Given the description of an element on the screen output the (x, y) to click on. 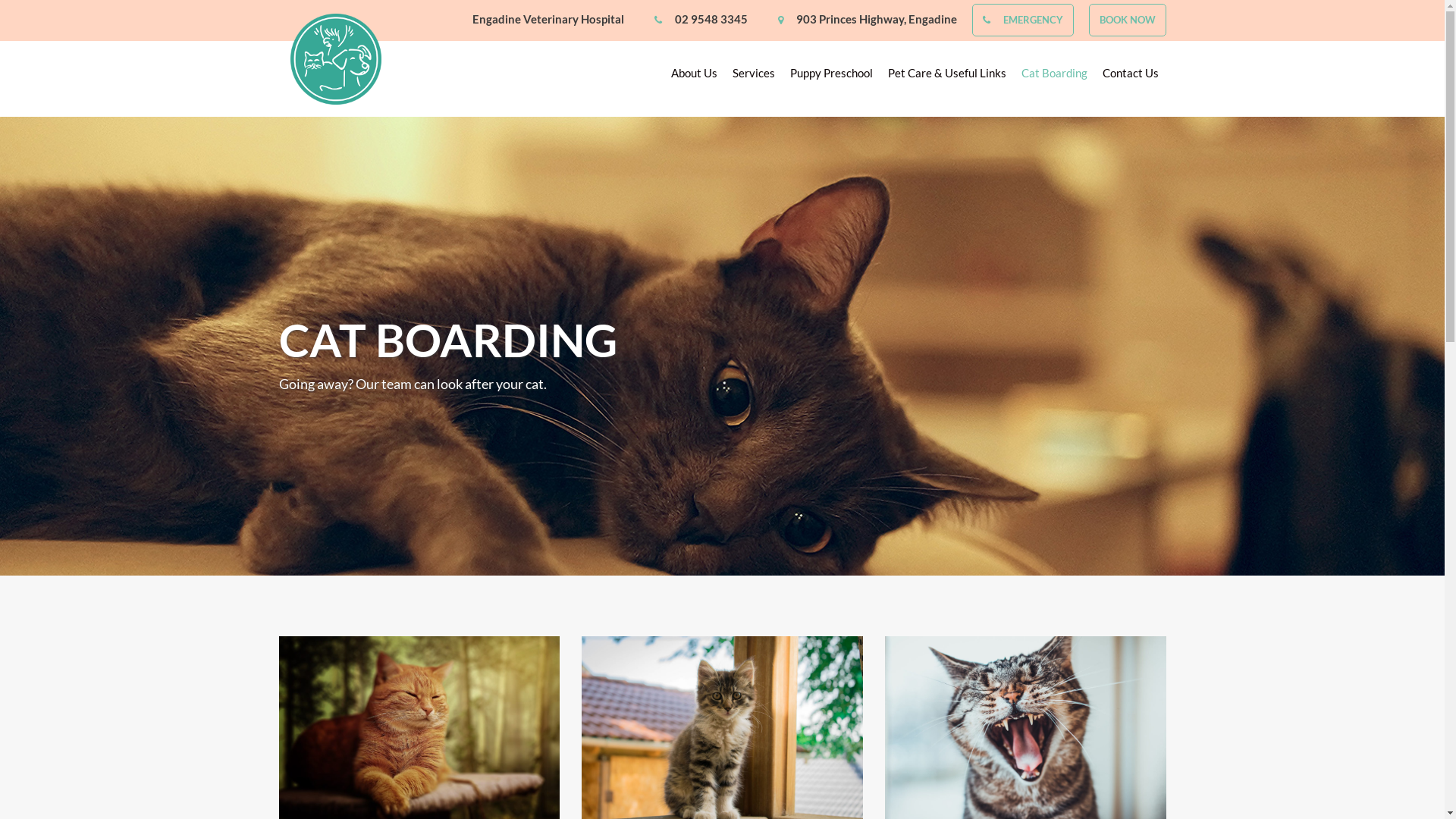
Pet Care & Useful Links Element type: text (946, 76)
EMERGENCY Element type: text (1032, 19)
Engadine Veterinary Hospital Element type: text (547, 18)
Cat Boarding Element type: text (1053, 76)
903 Princes Highway, Engadine Element type: text (876, 18)
About Us Element type: text (693, 76)
Services Element type: text (753, 76)
02 9548 3345 Element type: text (710, 18)
Contact Us Element type: text (1130, 76)
BOOK NOW Element type: text (1127, 19)
Puppy Preschool Element type: text (831, 76)
Engadine Veterinary Hospital Element type: hover (334, 58)
